Given the description of an element on the screen output the (x, y) to click on. 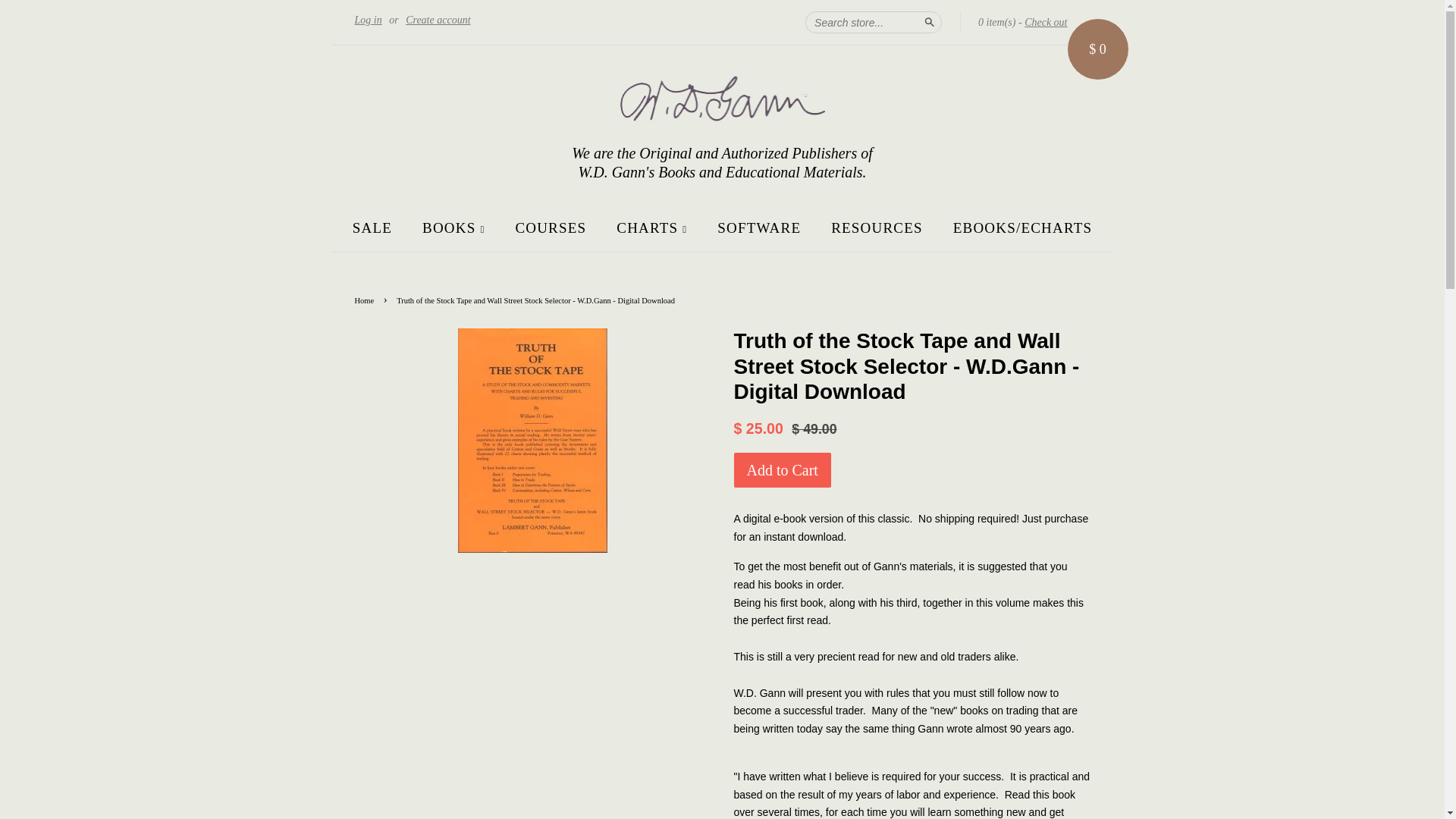
COURSES (550, 227)
Home (366, 300)
SALE (378, 227)
RESOURCES (877, 227)
Check out (1046, 22)
SOFTWARE (758, 227)
BOOKS (453, 227)
CHARTS (652, 227)
Create account (438, 19)
Add to Cart (782, 469)
Log in (368, 19)
Back to the frontpage (366, 300)
